Given the description of an element on the screen output the (x, y) to click on. 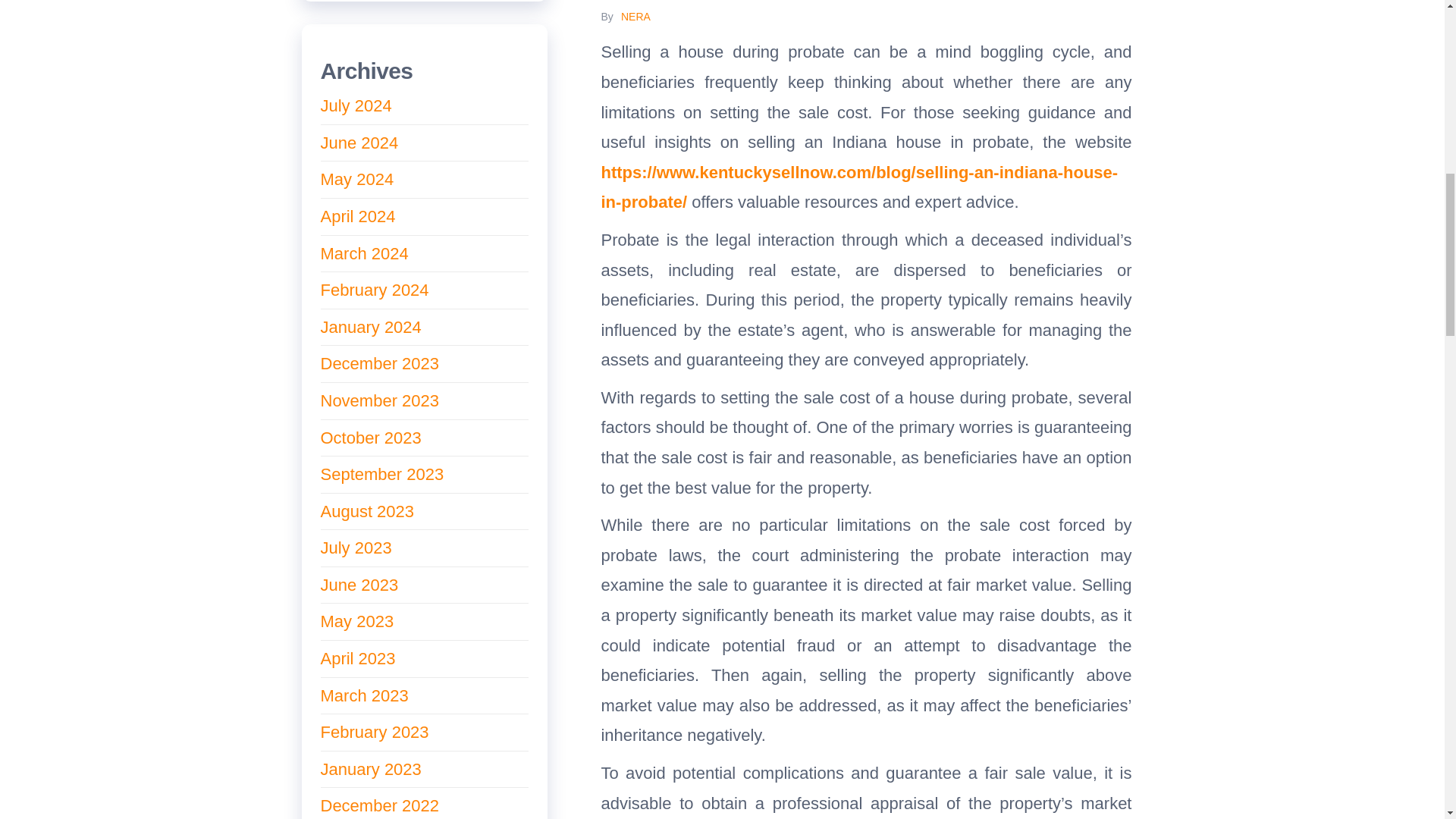
April 2023 (357, 658)
April 2024 (357, 216)
February 2024 (374, 289)
June 2024 (358, 142)
November 2023 (379, 400)
December 2022 (379, 805)
May 2024 (356, 179)
May 2023 (356, 620)
June 2023 (358, 584)
March 2023 (363, 695)
January 2024 (370, 326)
January 2023 (370, 769)
March 2024 (363, 253)
July 2024 (355, 105)
October 2023 (370, 436)
